Given the description of an element on the screen output the (x, y) to click on. 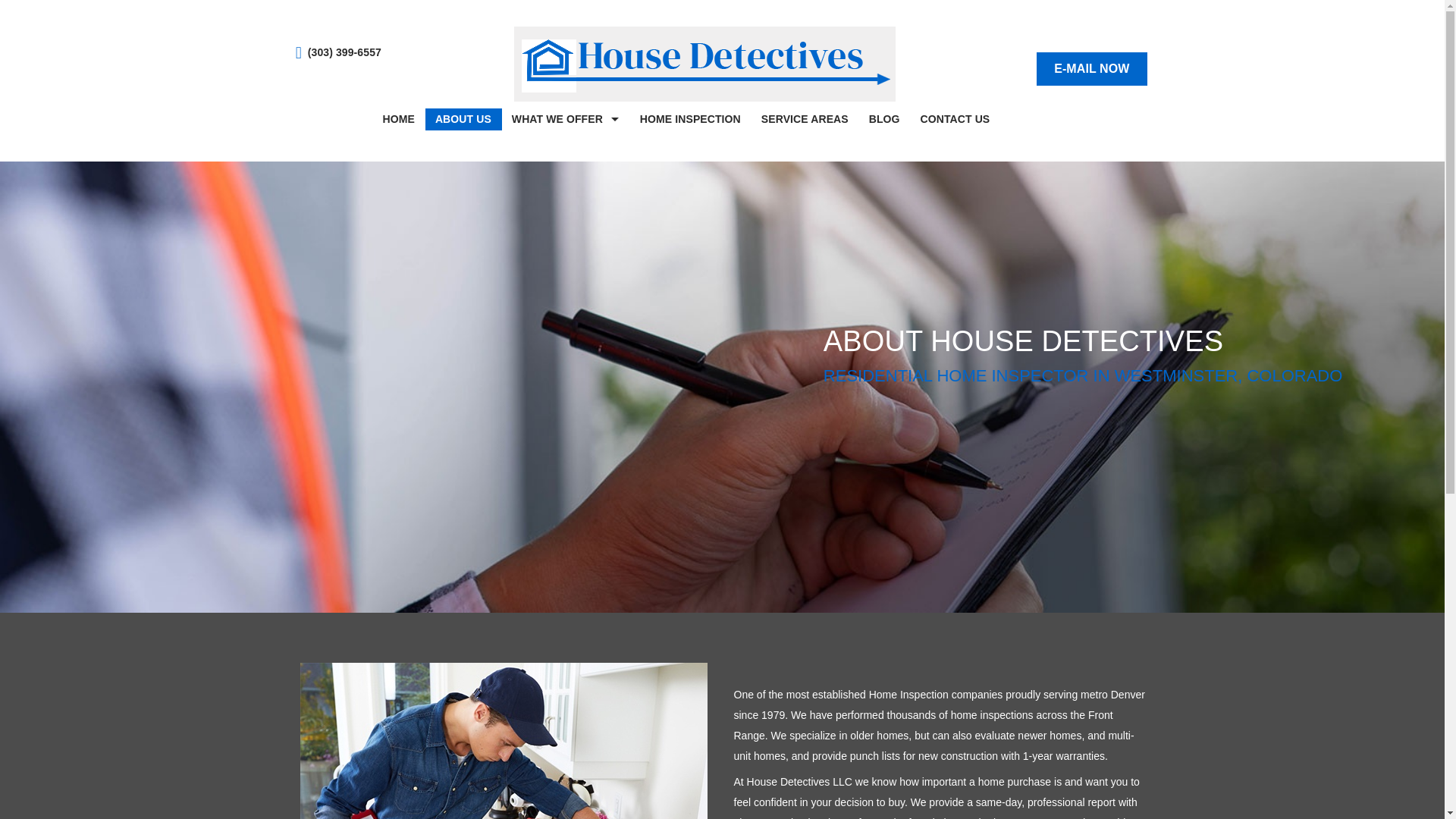
ABOUT US (463, 119)
SERVICE AREAS (805, 119)
E-MAIL NOW (1091, 68)
HOME INSPECTION (690, 119)
HOME (398, 119)
CONTACT US (956, 119)
BLOG (885, 119)
WHAT WE OFFER (566, 119)
